Given the description of an element on the screen output the (x, y) to click on. 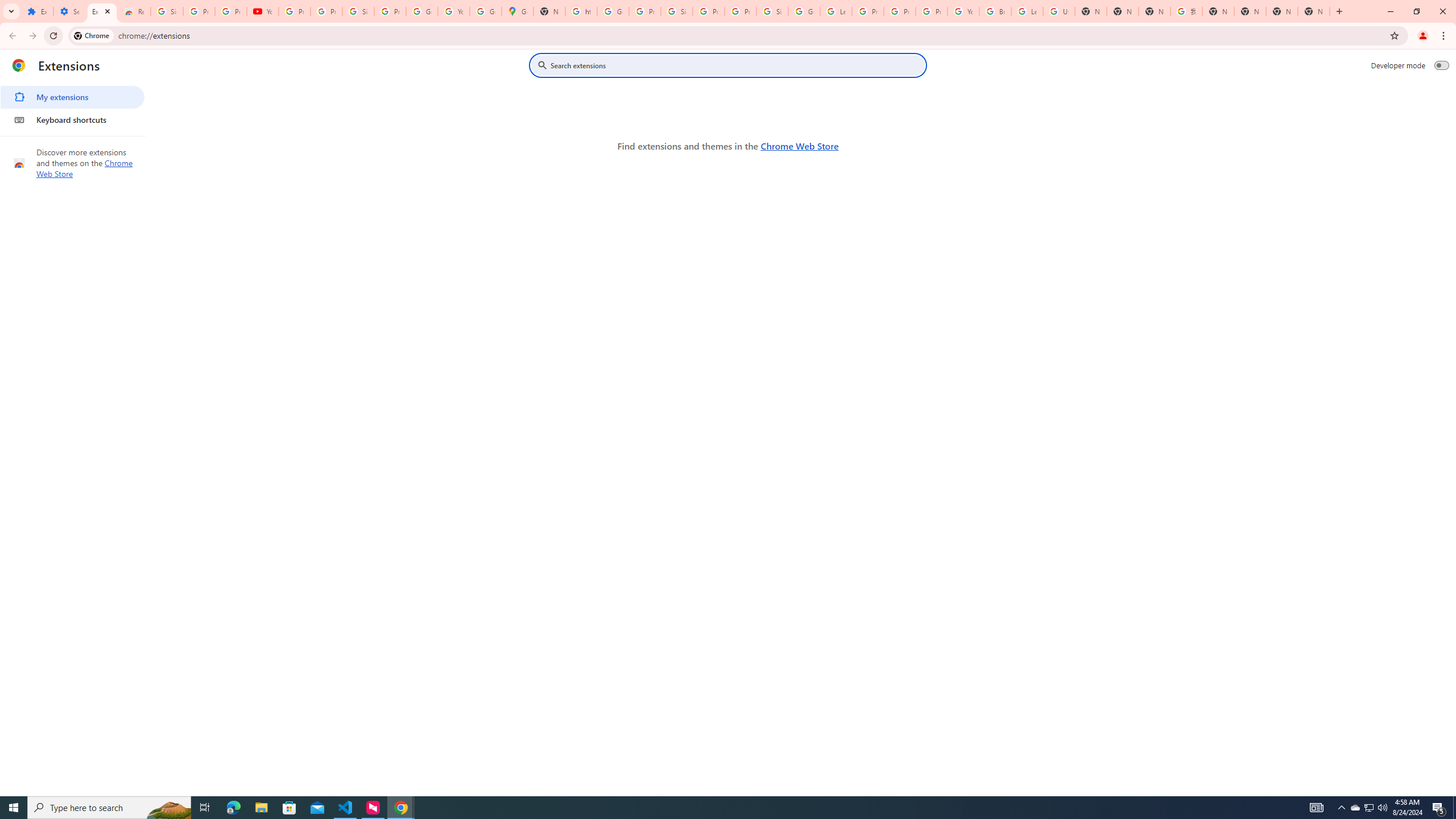
Google Maps (517, 11)
Developer mode (1442, 64)
New Tab (1123, 11)
Chrome Web Store (799, 145)
Sign in - Google Accounts (772, 11)
Browse Chrome as a guest - Computer - Google Chrome Help (995, 11)
My extensions (72, 96)
New Tab (1313, 11)
YouTube (963, 11)
